Given the description of an element on the screen output the (x, y) to click on. 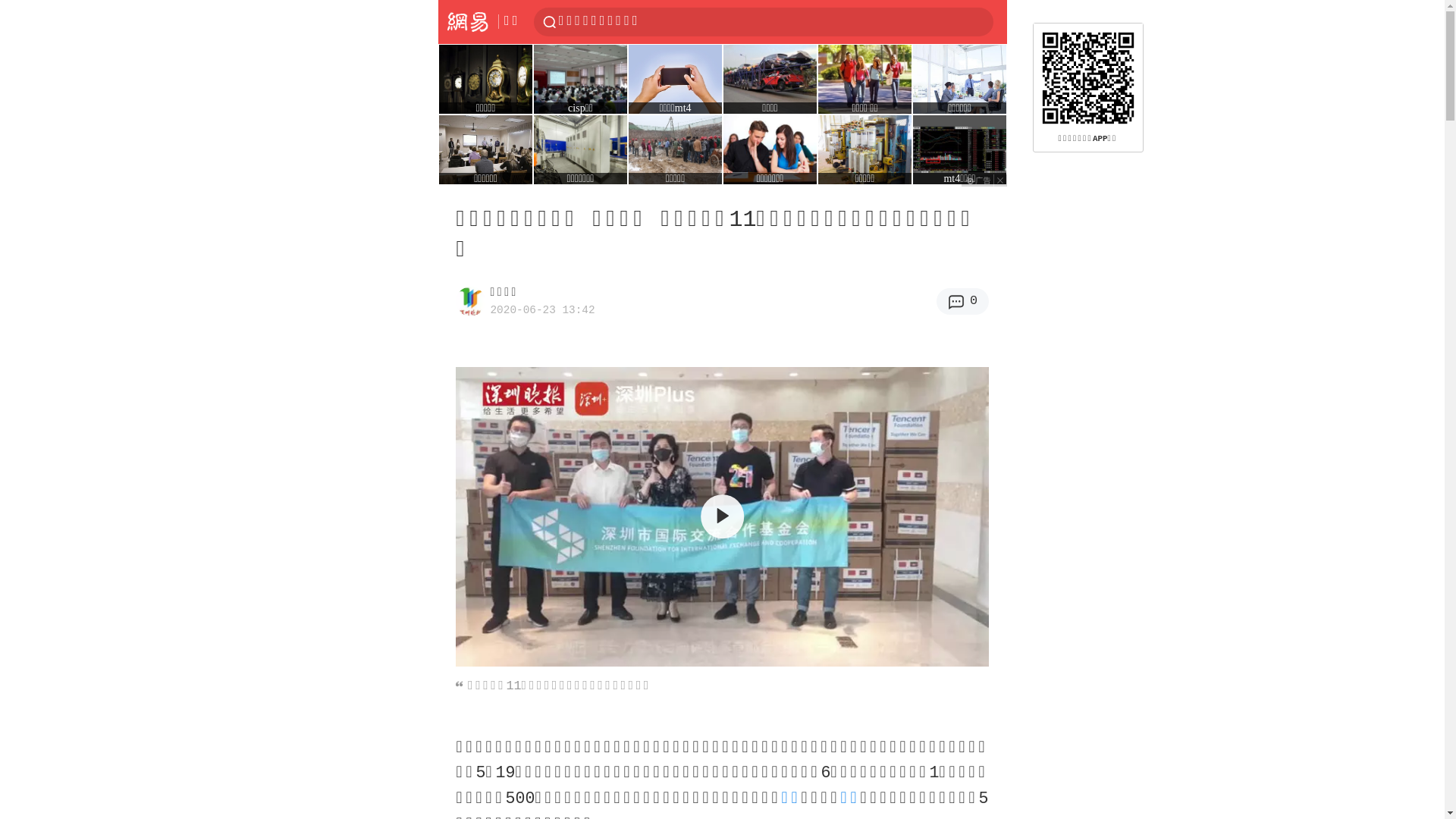
0 Element type: text (962, 301)
